Given the description of an element on the screen output the (x, y) to click on. 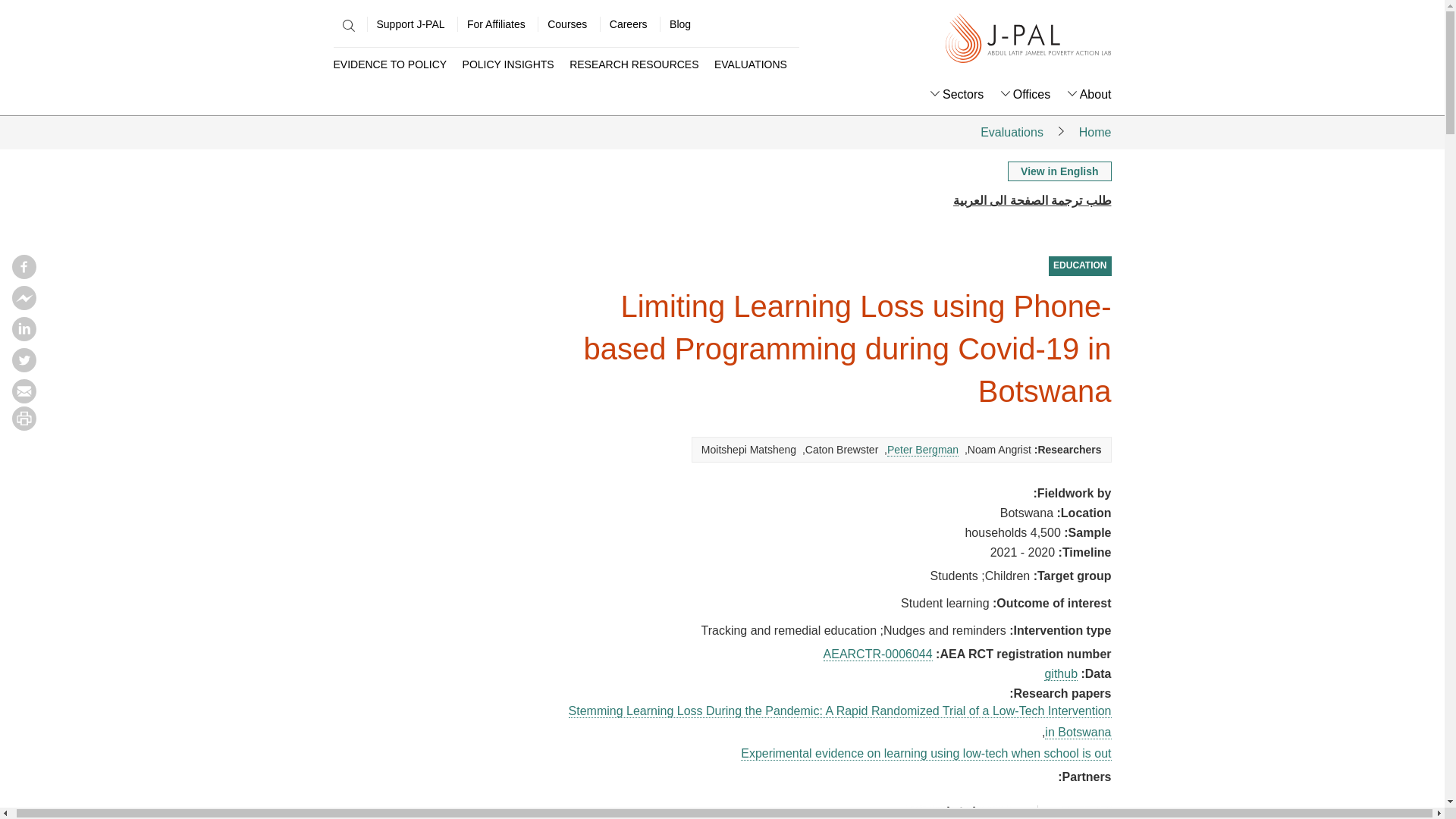
Ministry of Basic Education in Botswana (959, 812)
Young 1ove (1085, 812)
Twitter (23, 367)
Facebook (23, 274)
print (23, 426)
J-PAL (1028, 39)
Facebook messenger (23, 305)
Linkedin (23, 336)
Email (23, 399)
